Given the description of an element on the screen output the (x, y) to click on. 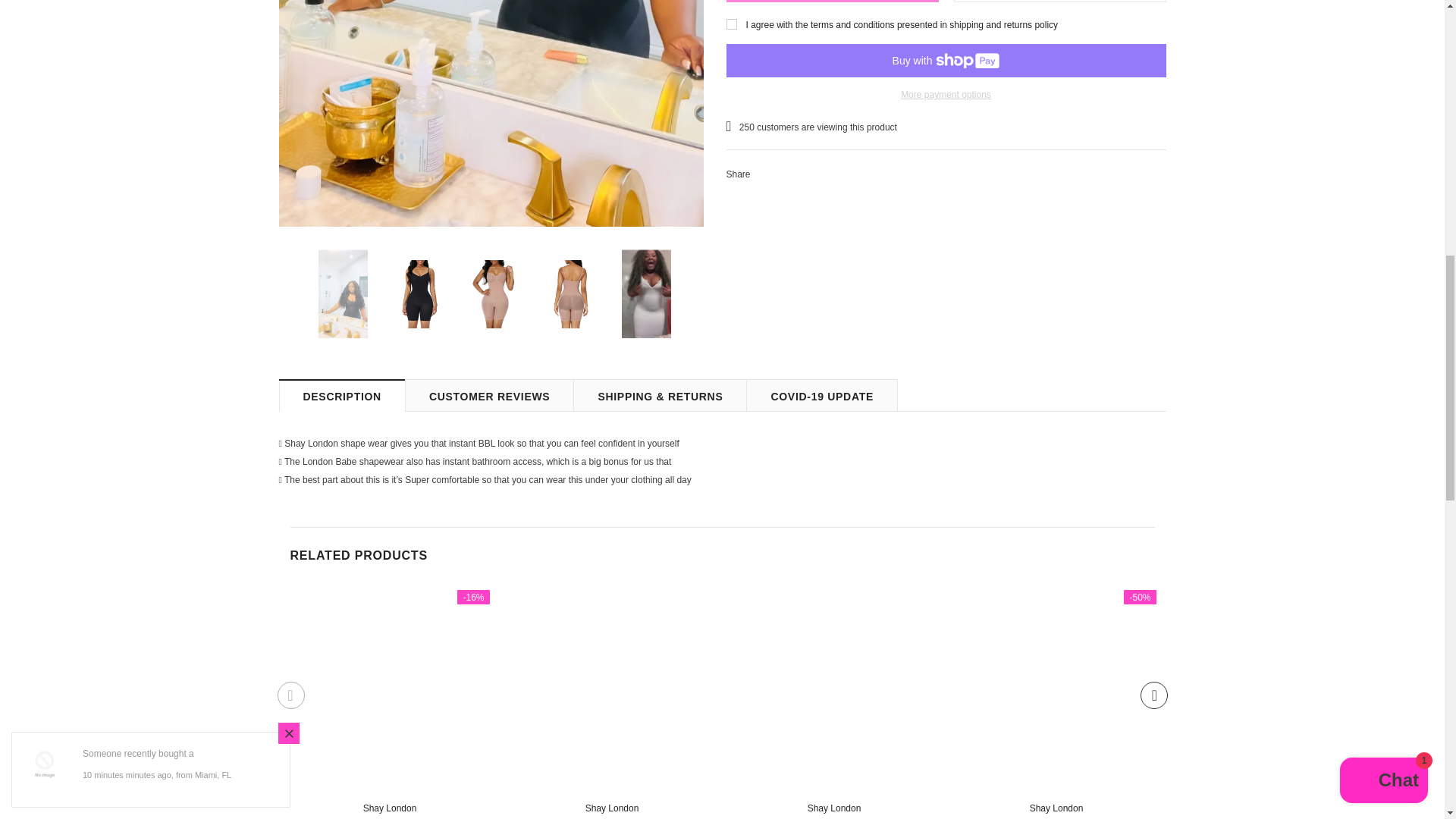
Add to Cart (832, 1)
